Given the description of an element on the screen output the (x, y) to click on. 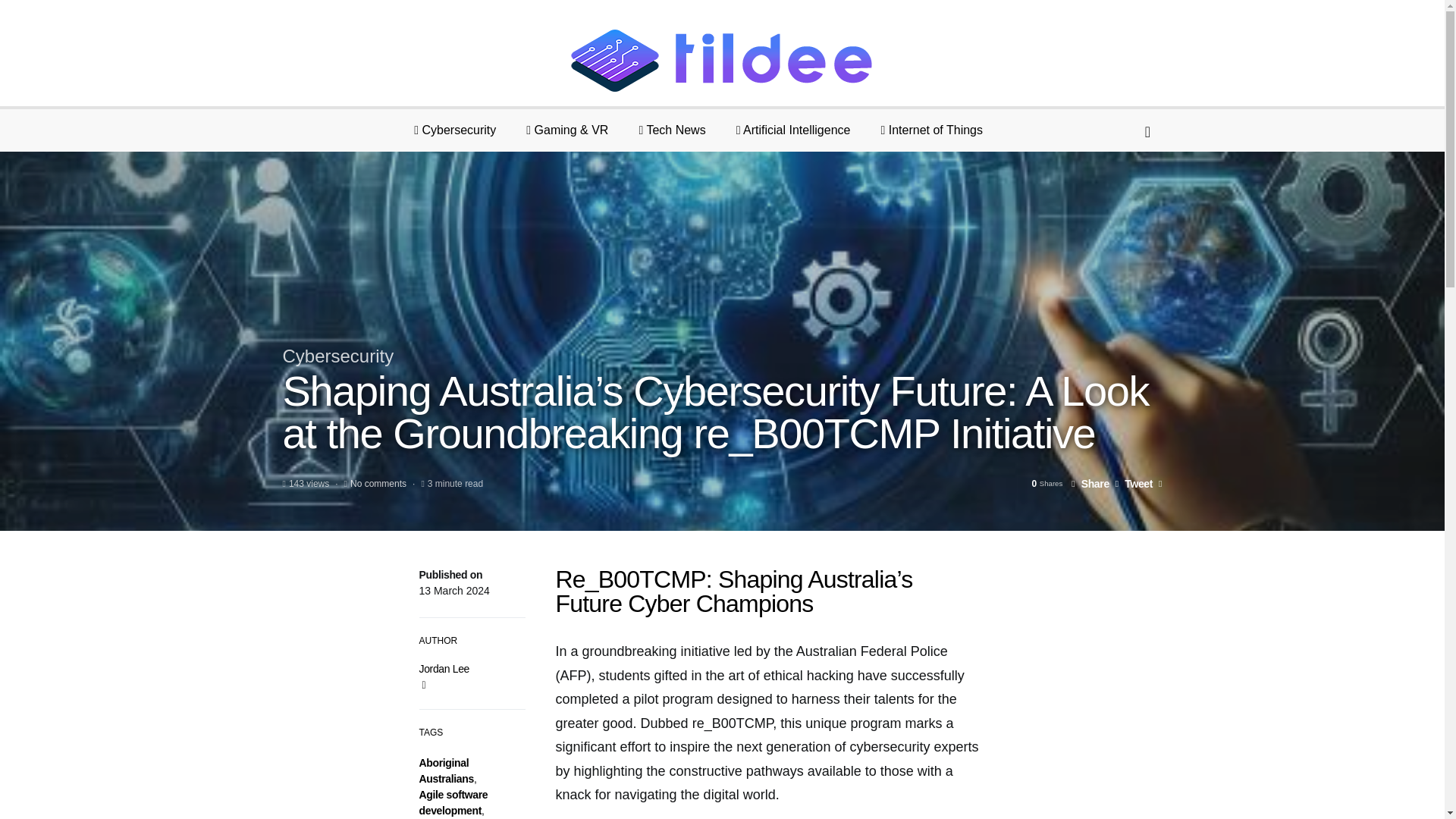
Tweet (1134, 483)
Cybersecurity (337, 355)
No comments (378, 483)
Agile software development (453, 802)
Aboriginal Australians (446, 770)
Jordan Lee (443, 668)
Share (1090, 483)
